Given the description of an element on the screen output the (x, y) to click on. 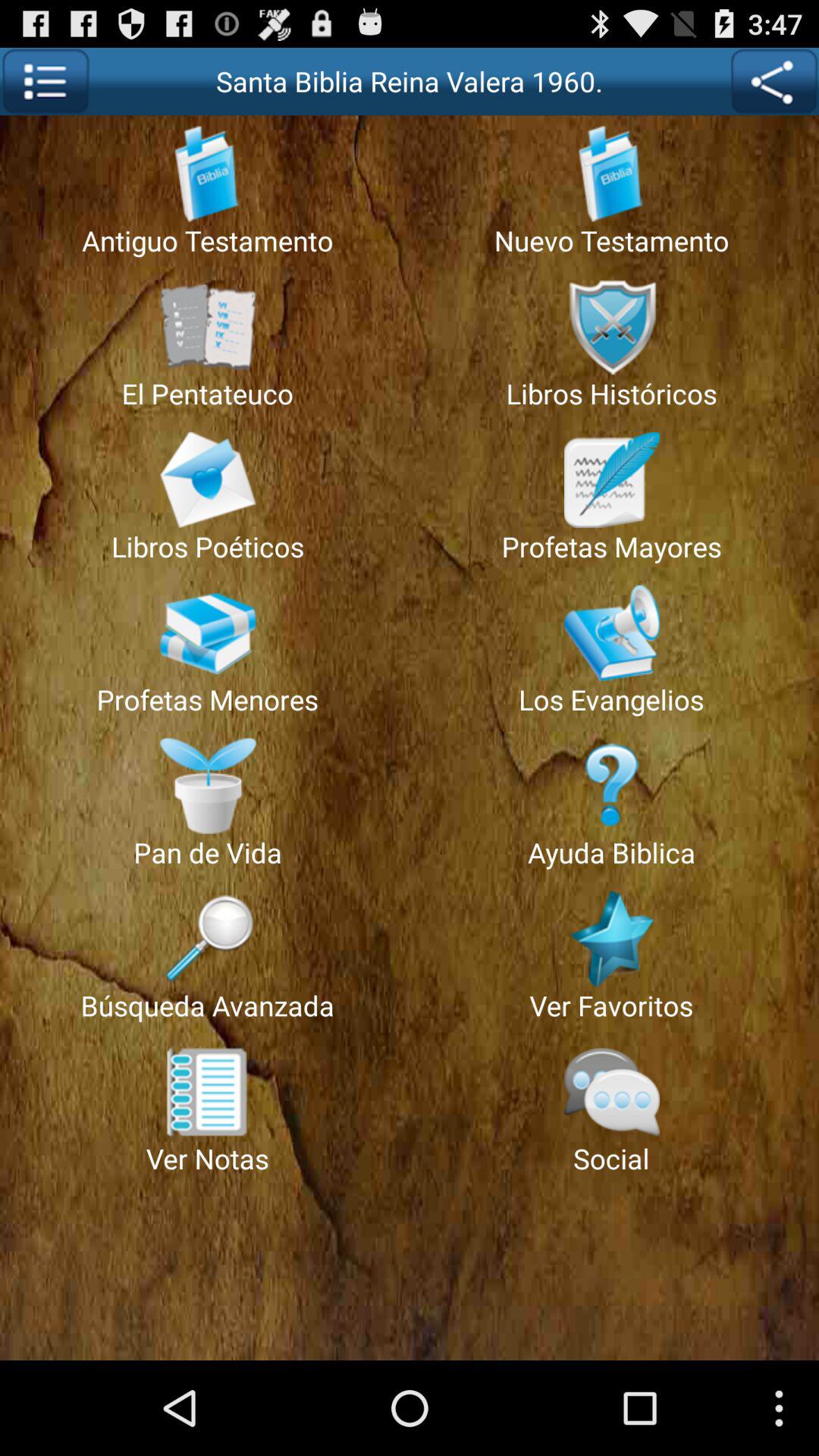
tap item next to the santa biblia reina app (773, 81)
